Given the description of an element on the screen output the (x, y) to click on. 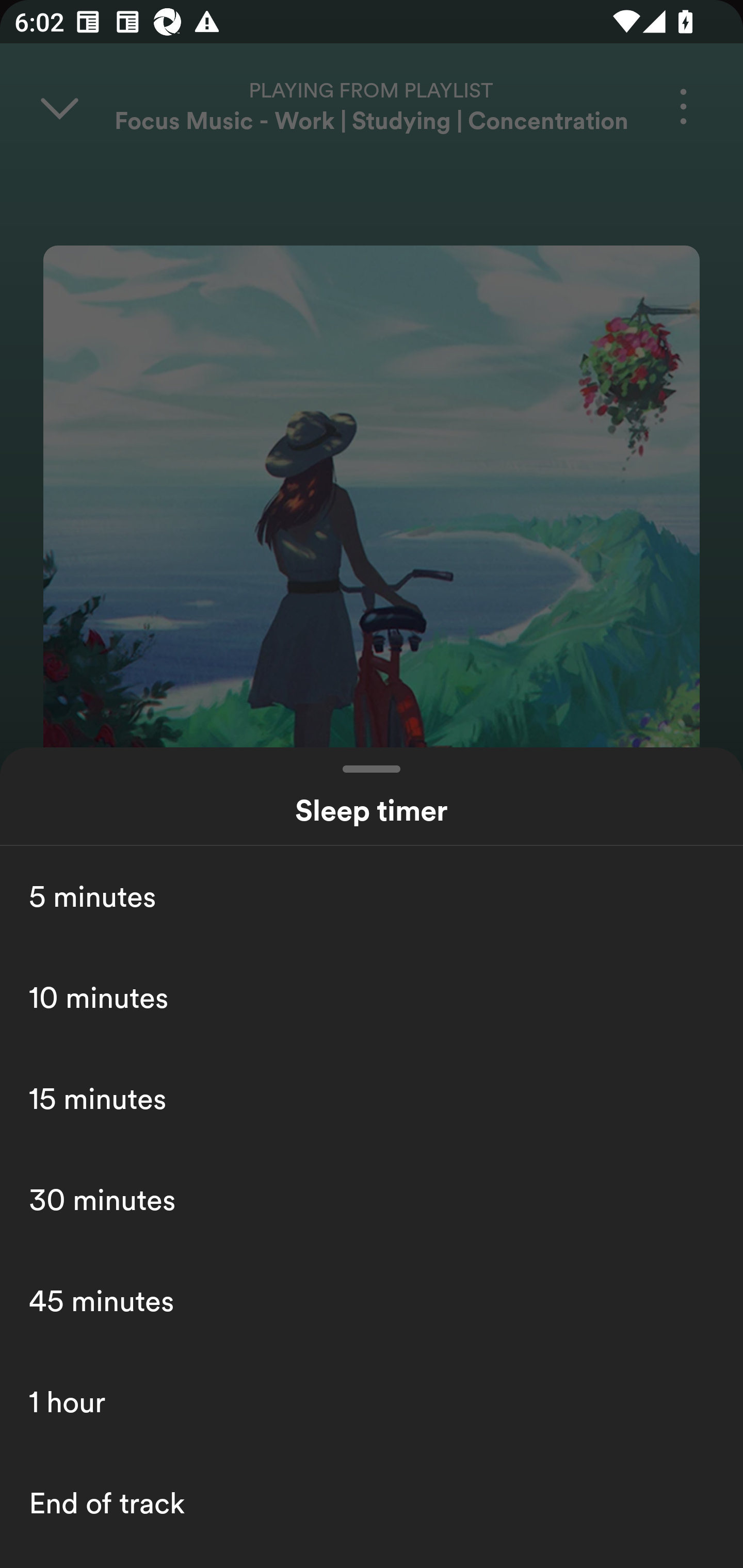
5 minutes (371, 896)
10 minutes (371, 997)
15 minutes (371, 1098)
30 minutes (371, 1199)
45 minutes (371, 1300)
1 hour (371, 1401)
End of track (371, 1502)
